Given the description of an element on the screen output the (x, y) to click on. 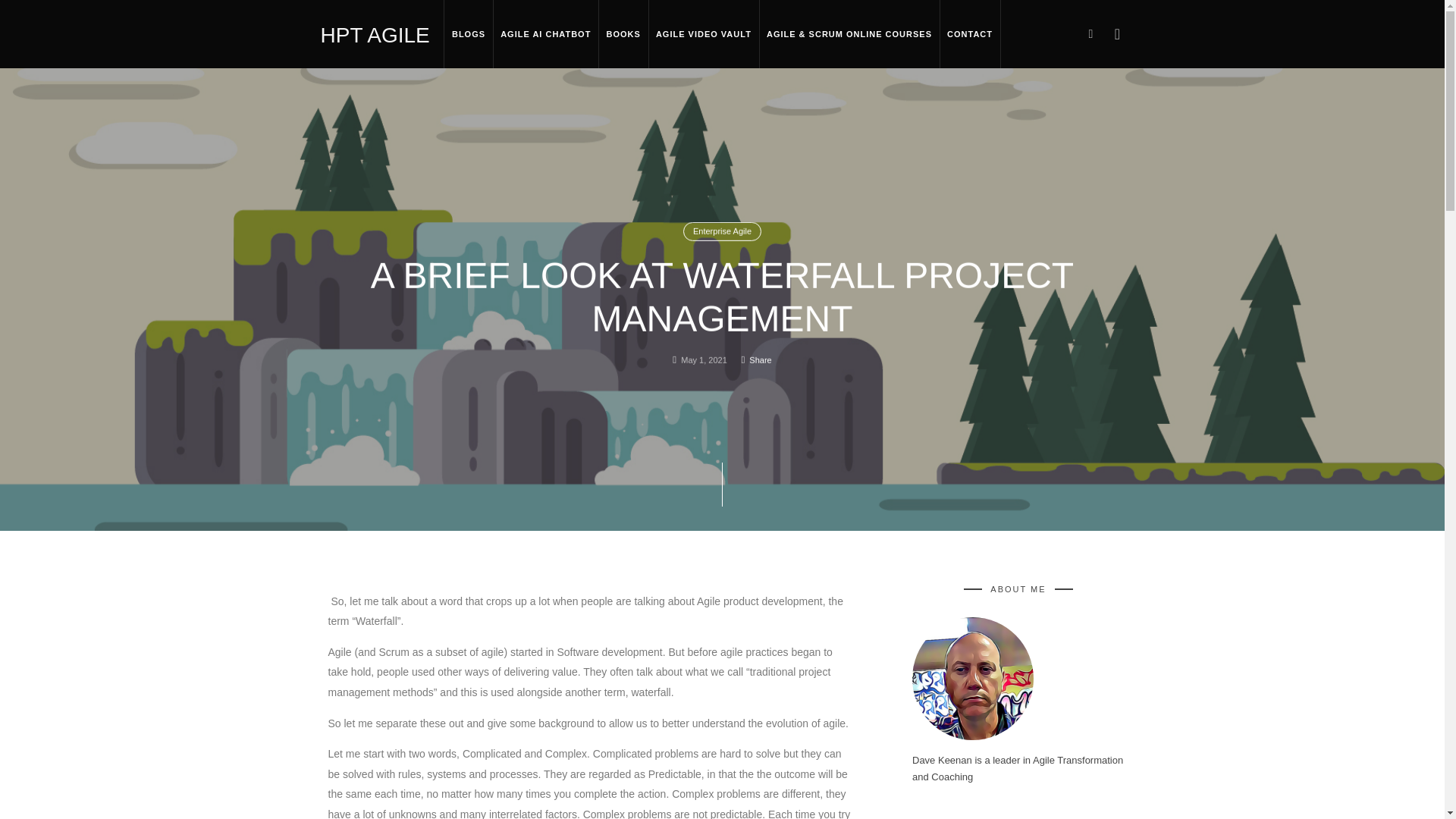
AGILE VIDEO VAULT (702, 33)
Enterprise Agile (721, 230)
CONTACT (969, 33)
HPT AGILE (374, 33)
AGILE AI CHATBOT (545, 33)
May 1, 2021 (703, 359)
